Given the description of an element on the screen output the (x, y) to click on. 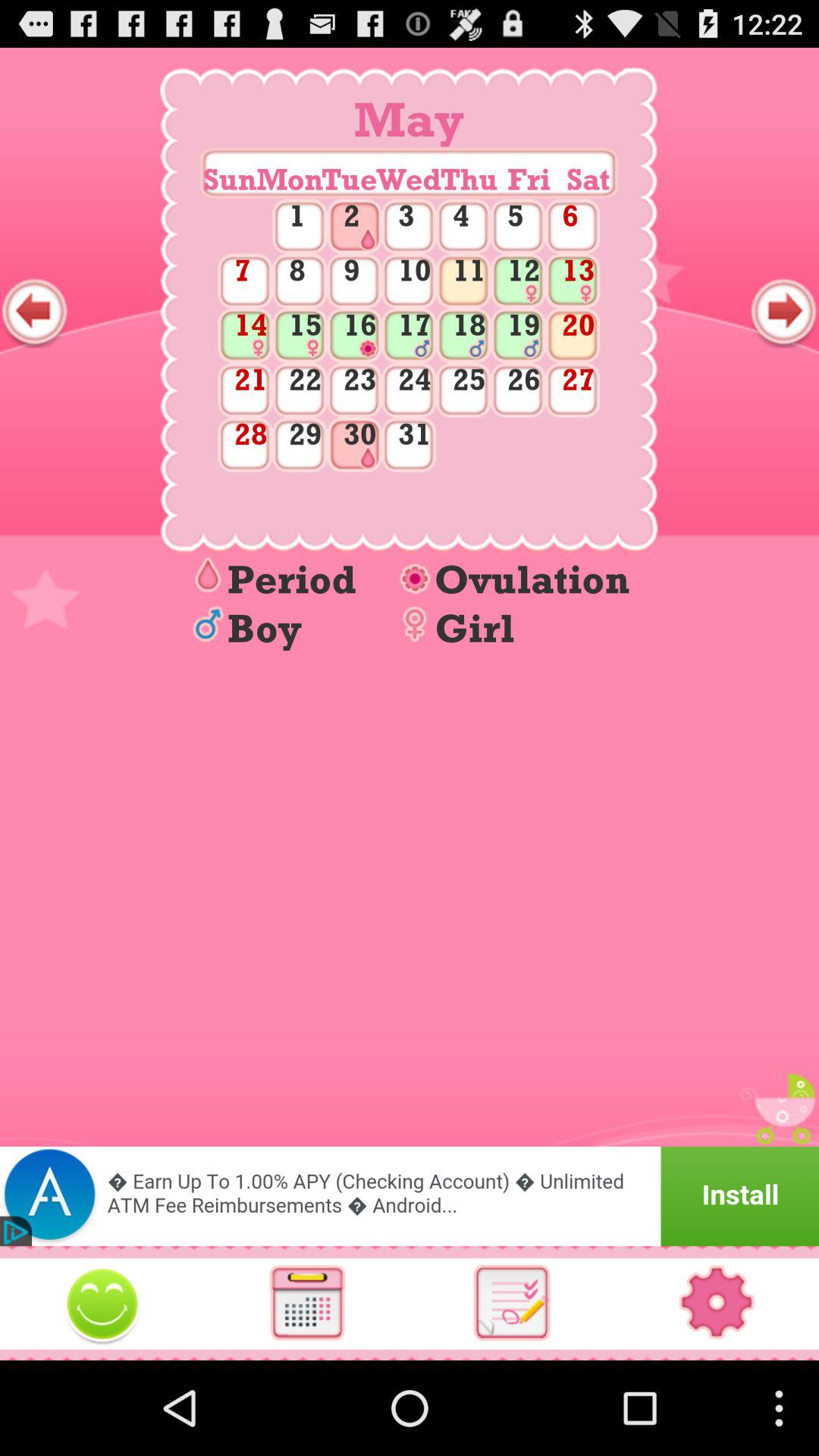
advertisement banner (409, 1196)
